Given the description of an element on the screen output the (x, y) to click on. 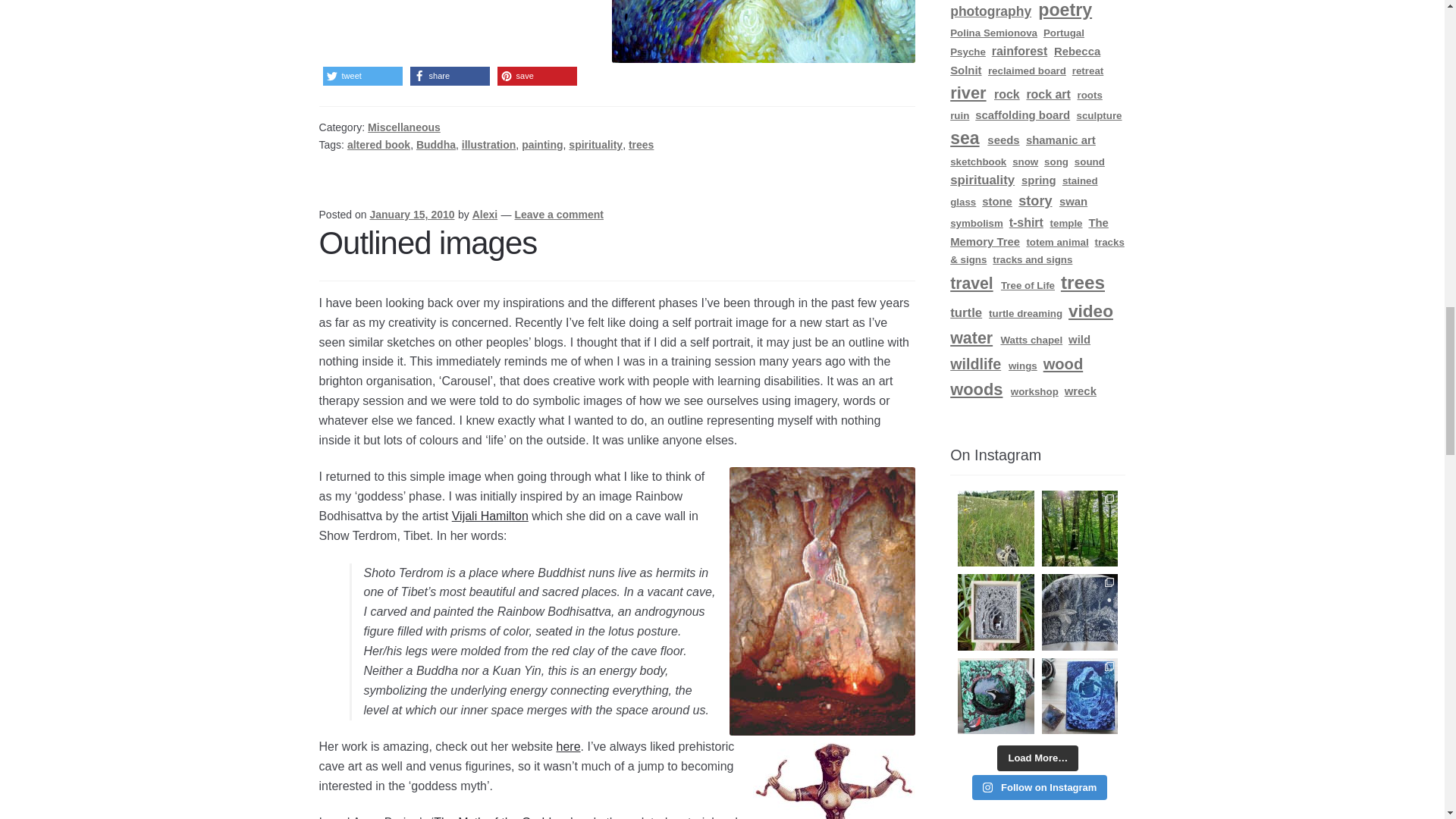
Pin it on Pinterest (536, 75)
Share on Facebook (449, 75)
Share on Twitter (363, 75)
cretan snake goddess (833, 778)
Woman with Candle (763, 31)
